Given the description of an element on the screen output the (x, y) to click on. 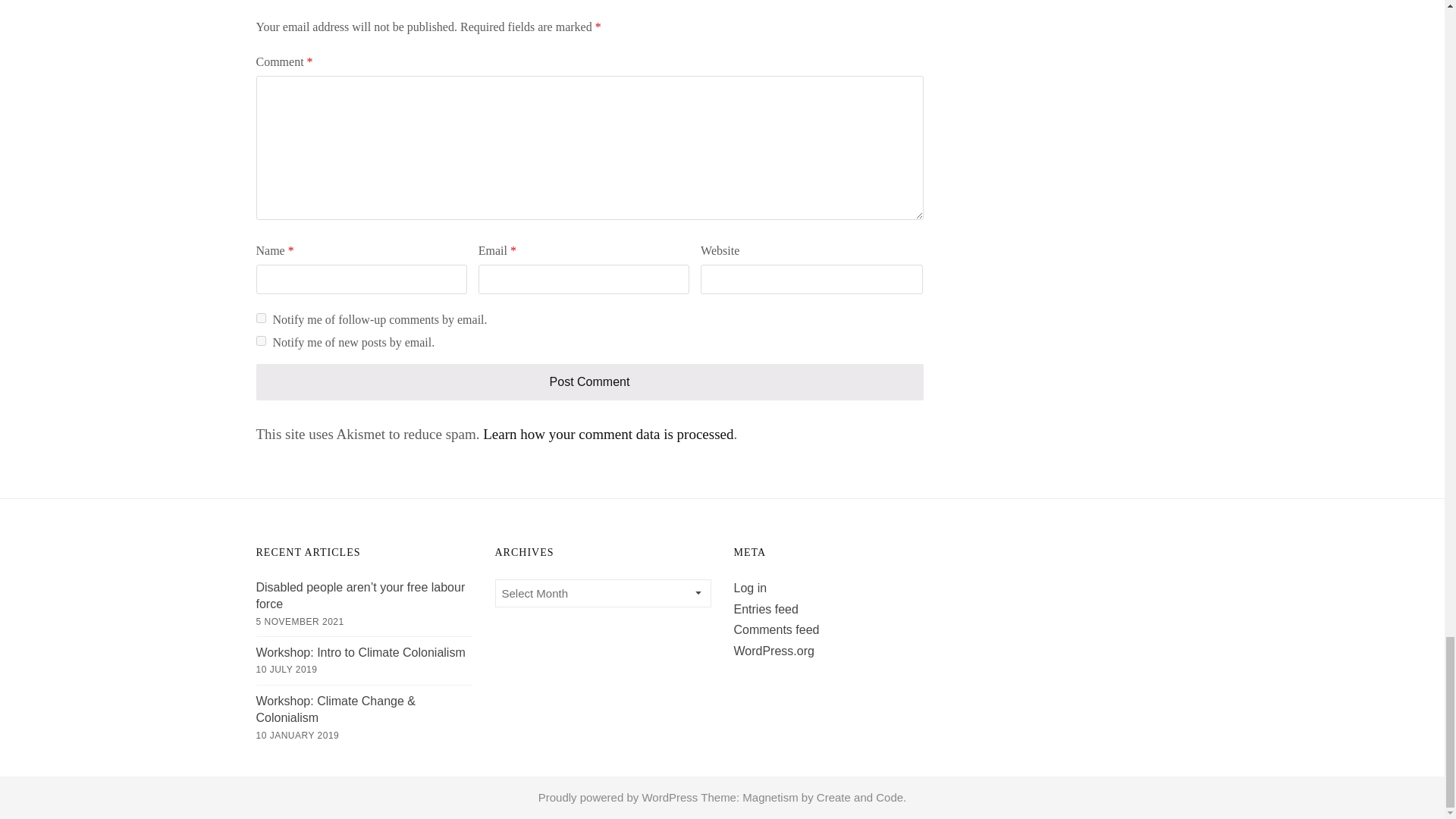
subscribe (261, 340)
Post Comment (589, 381)
subscribe (261, 317)
